Given the description of an element on the screen output the (x, y) to click on. 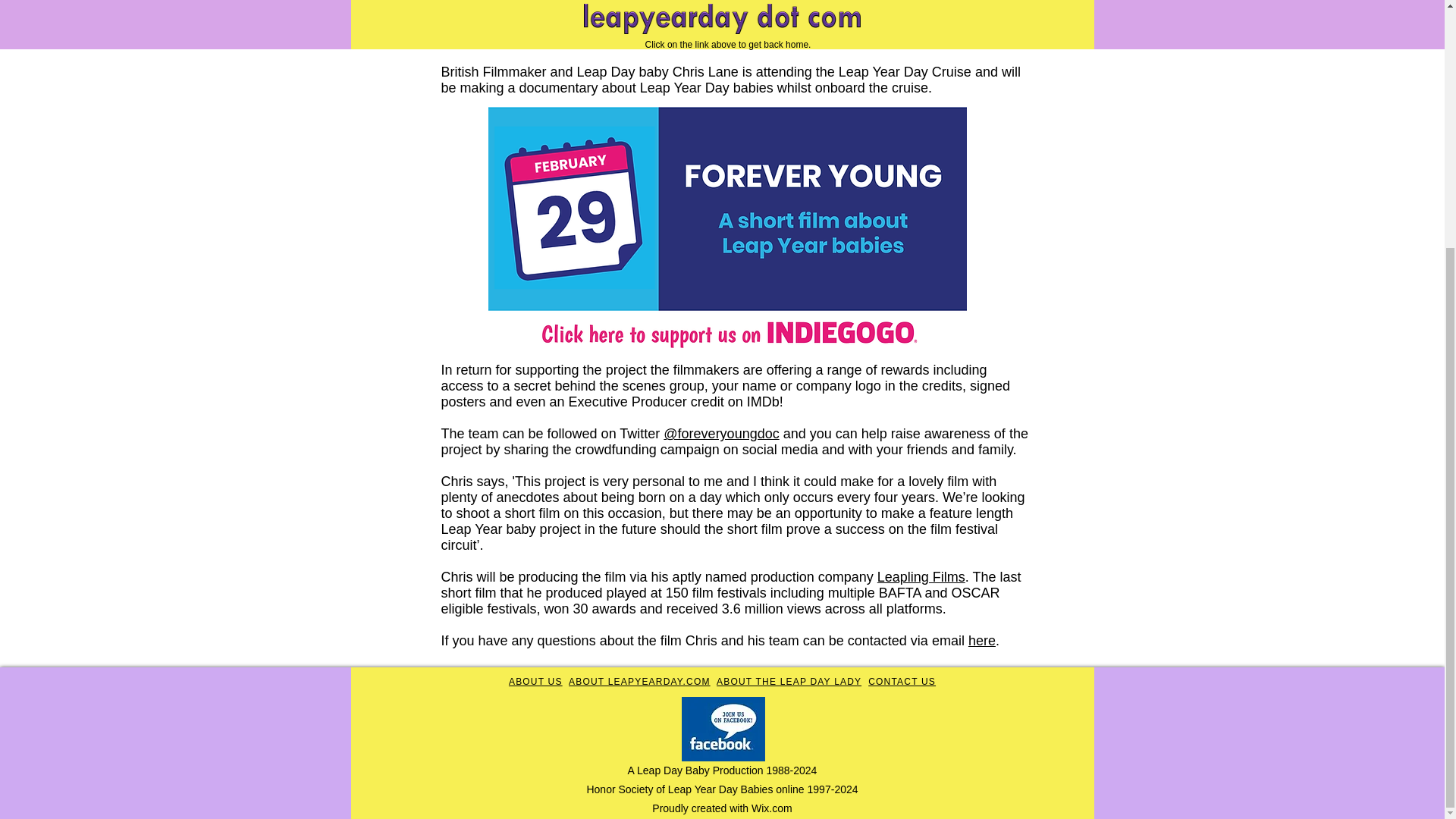
here (981, 640)
ABOUT US (535, 681)
ABOUT THE LEAP DAY LADY (788, 681)
Leapling Films (921, 576)
CONTACT US (901, 681)
ABOUT LEAPYEARDAY.COM (639, 681)
